Given the description of an element on the screen output the (x, y) to click on. 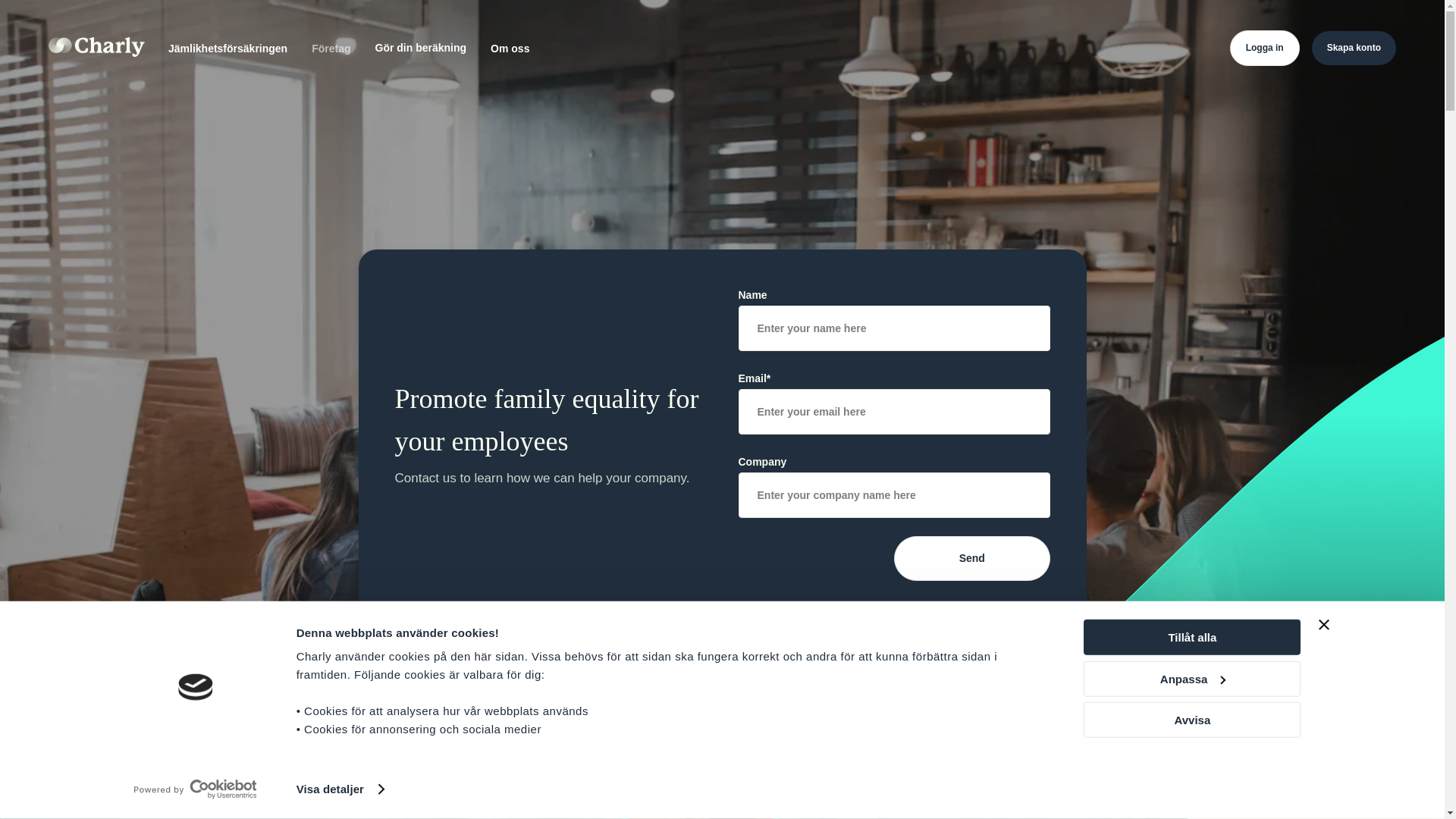
Visa detaljer (340, 789)
Avvisa (1191, 719)
Anpassa (1191, 678)
